Given the description of an element on the screen output the (x, y) to click on. 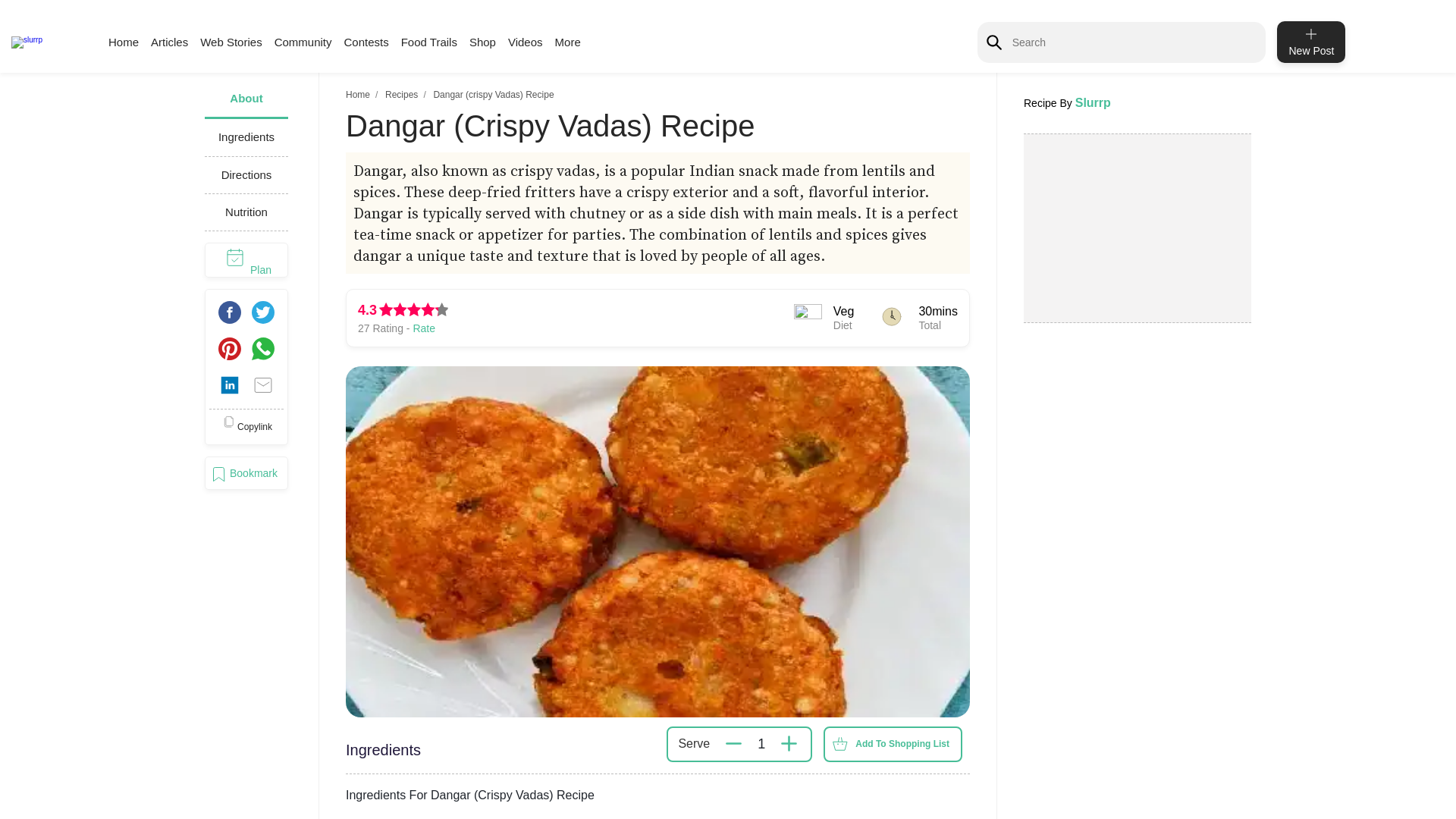
Copylink (246, 426)
Contests (365, 42)
Videos (525, 42)
Home (122, 42)
New Post (1310, 42)
Community (303, 42)
Home (357, 94)
Web Stories (231, 42)
Recipes (401, 94)
copy link (246, 426)
Articles (169, 42)
Shop (482, 42)
Food Trails (429, 42)
